Given the description of an element on the screen output the (x, y) to click on. 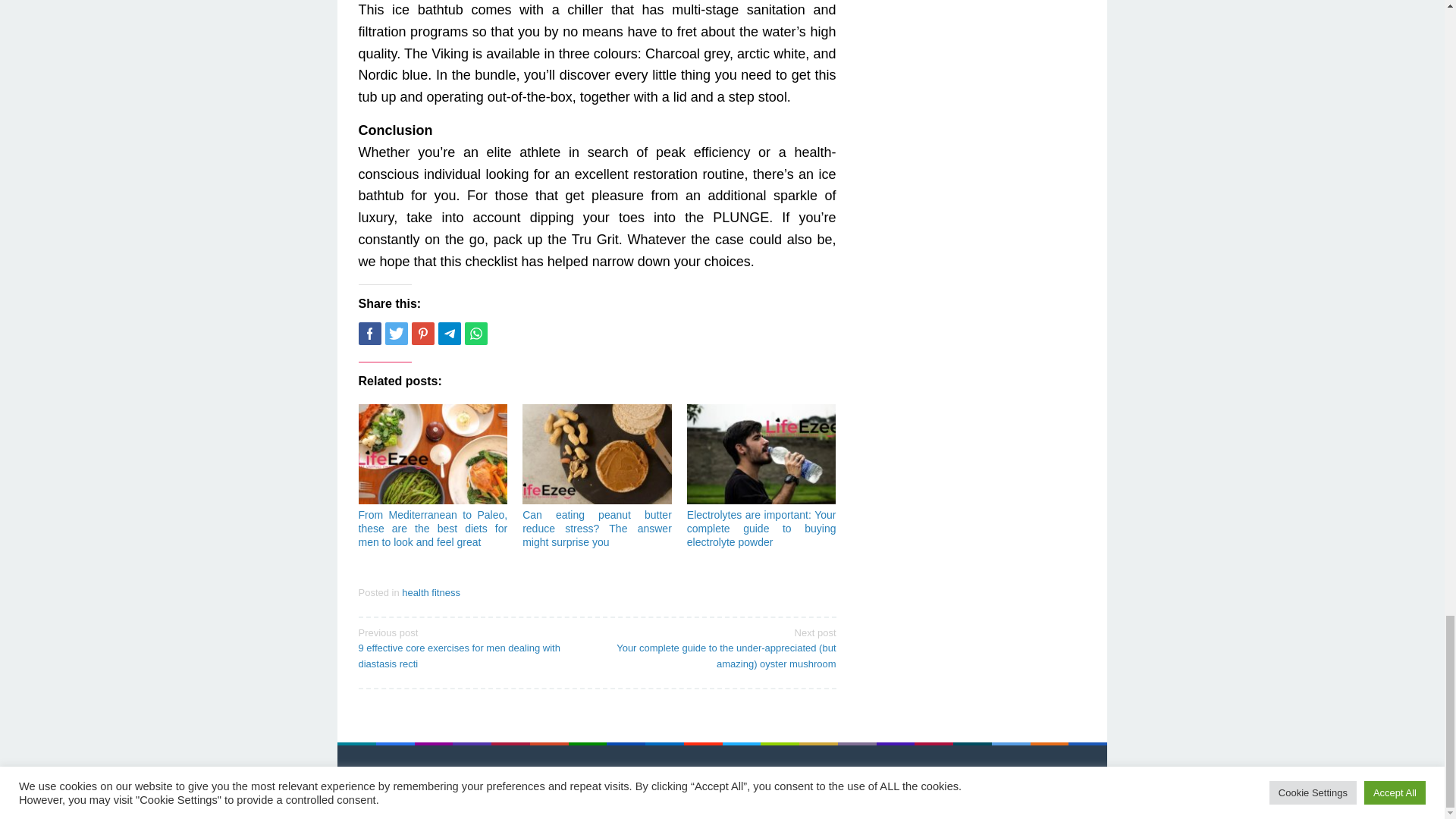
Tweet this (396, 333)
Pin this (421, 333)
Whatsapp (475, 333)
Telegram Share (449, 333)
Share this (369, 333)
